Given the description of an element on the screen output the (x, y) to click on. 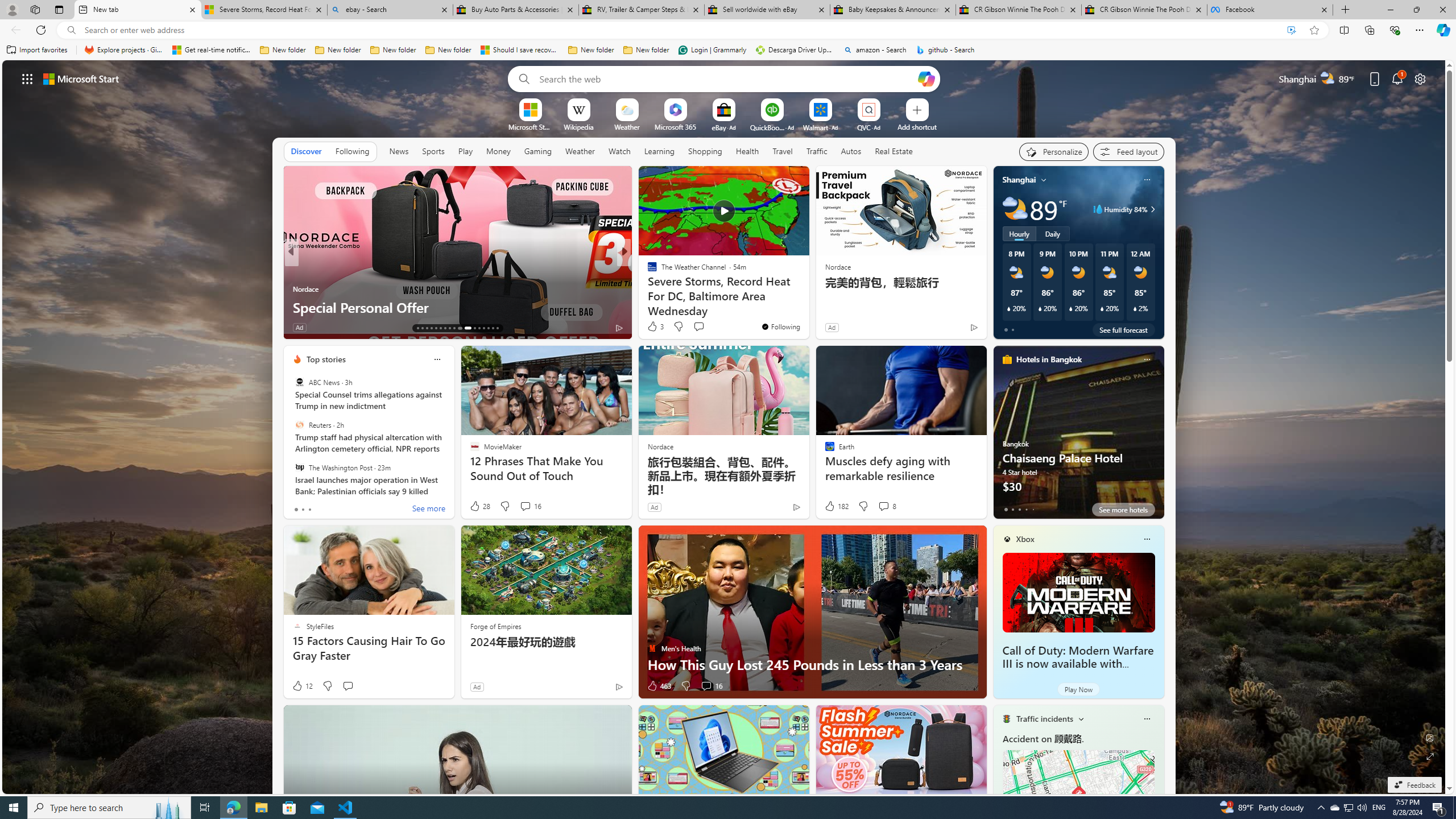
Close tab (1324, 9)
Add a site (916, 126)
Sports (432, 151)
Gaming (537, 151)
Partly cloudy (1014, 208)
Descarga Driver Updater (794, 49)
AutomationID: tab-17 (435, 328)
Watch (619, 151)
Shopping (705, 151)
Verywell Mind (647, 288)
Change scenarios (1080, 718)
Health (746, 151)
View comments 1 Comment (703, 327)
